Given the description of an element on the screen output the (x, y) to click on. 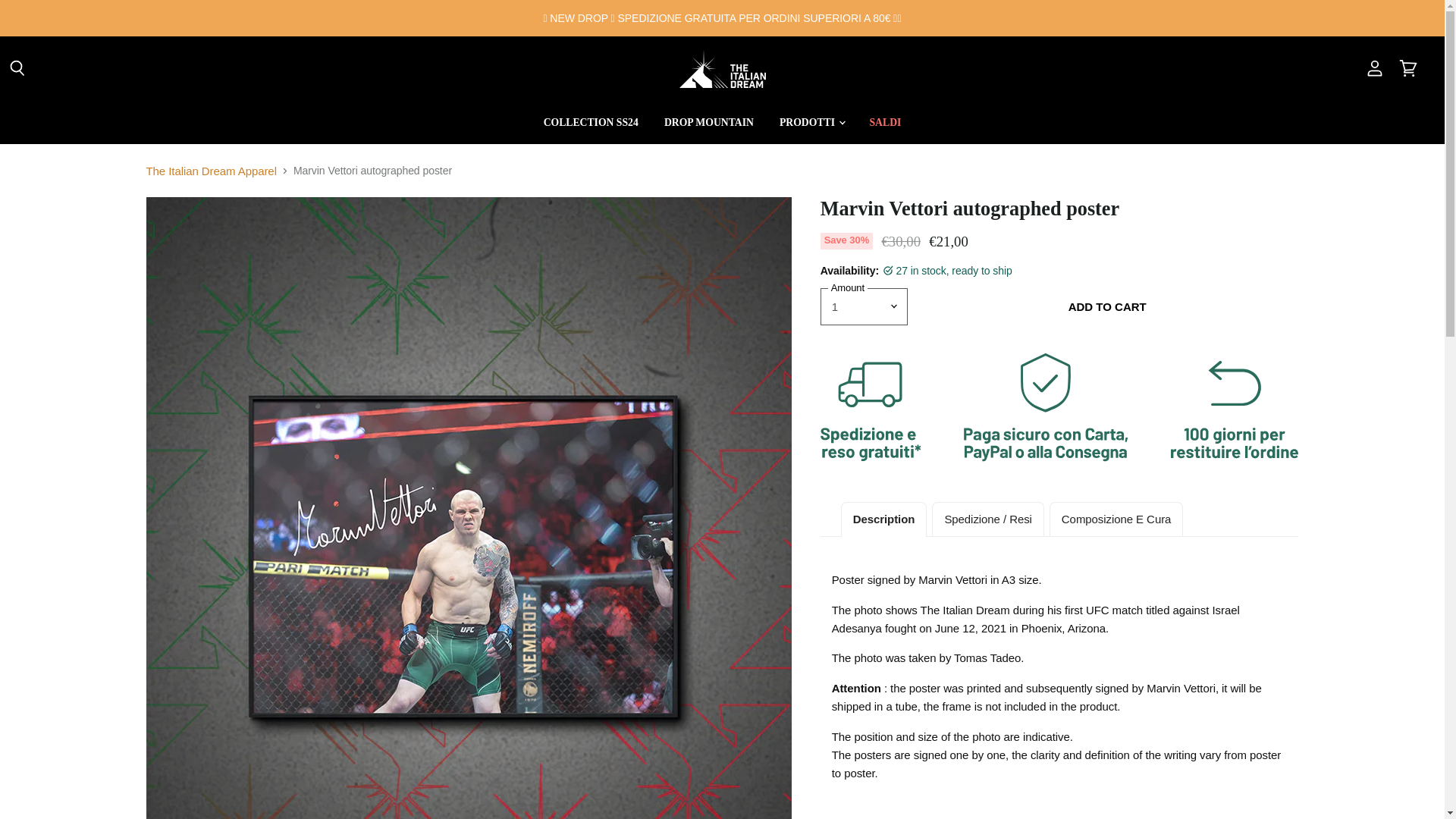
View account (1374, 68)
COLLECTION SS24 (590, 122)
ADD TO CART (1106, 307)
View cart (1408, 68)
The Italian Dream Apparel (210, 170)
SALDI (885, 122)
DROP MOUNTAIN (708, 122)
Search for (17, 68)
PRODOTTI (811, 122)
